Given the description of an element on the screen output the (x, y) to click on. 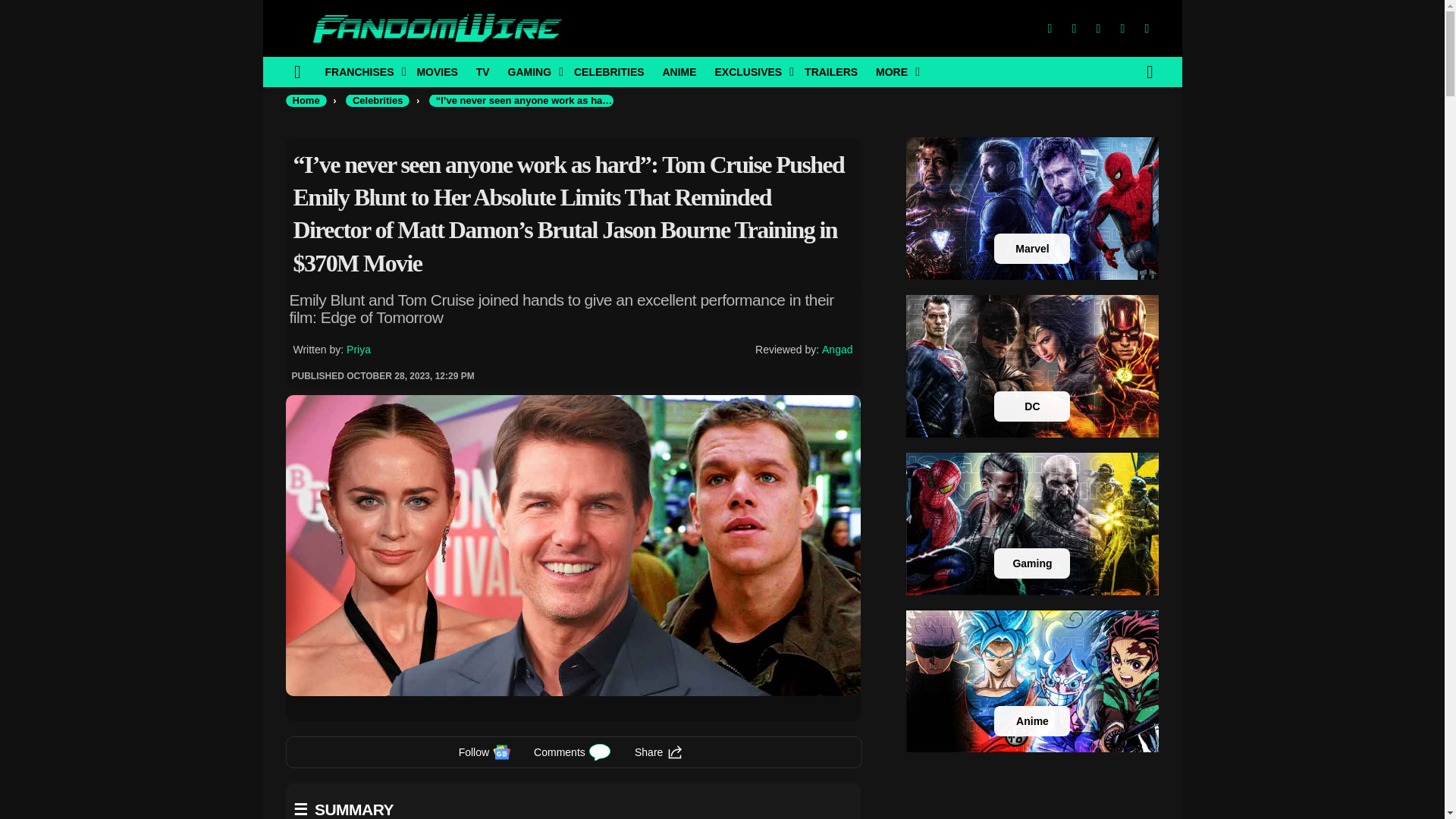
MOVIES (436, 71)
ANIME (678, 71)
FRANCHISES (361, 71)
EXCLUSIVES (749, 71)
CELEBRITIES (609, 71)
Menu (296, 71)
LinkedIn (1121, 28)
Facebook (1048, 28)
YT (1146, 28)
TRAILERS (830, 71)
